Given the description of an element on the screen output the (x, y) to click on. 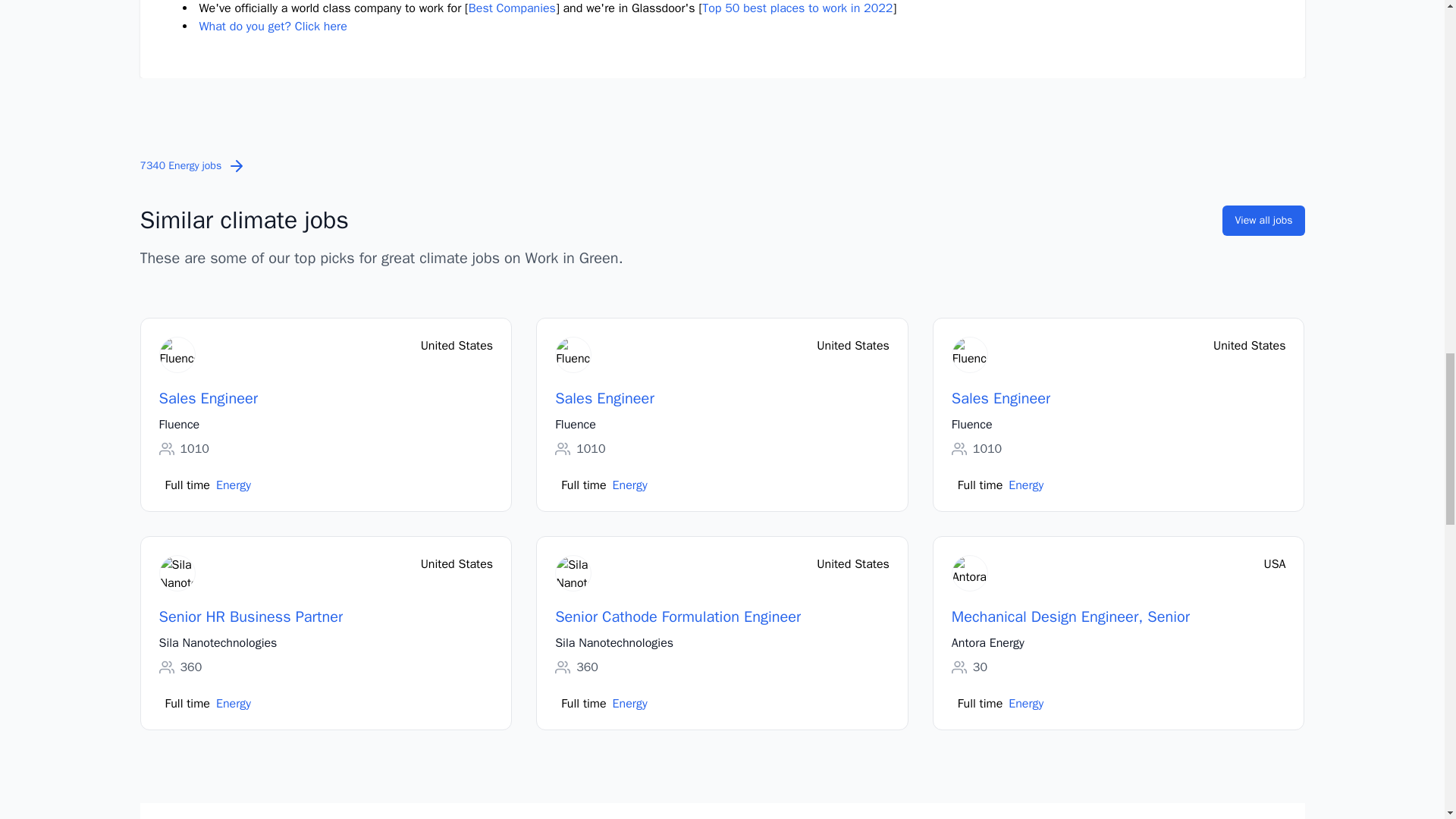
Energy (629, 703)
Fluence (574, 424)
Energy (232, 703)
Energy (1026, 484)
What do you get? Click here (272, 26)
Energy (629, 484)
Sales Engineer (208, 398)
7340 Energy jobs (192, 165)
Sales Engineer (1001, 398)
Fluence (179, 424)
View all jobs (1263, 220)
Senior Cathode Formulation Engineer (677, 617)
Sila Nanotechnologies (613, 642)
Sila Nanotechnologies (218, 642)
Energy (1026, 703)
